Given the description of an element on the screen output the (x, y) to click on. 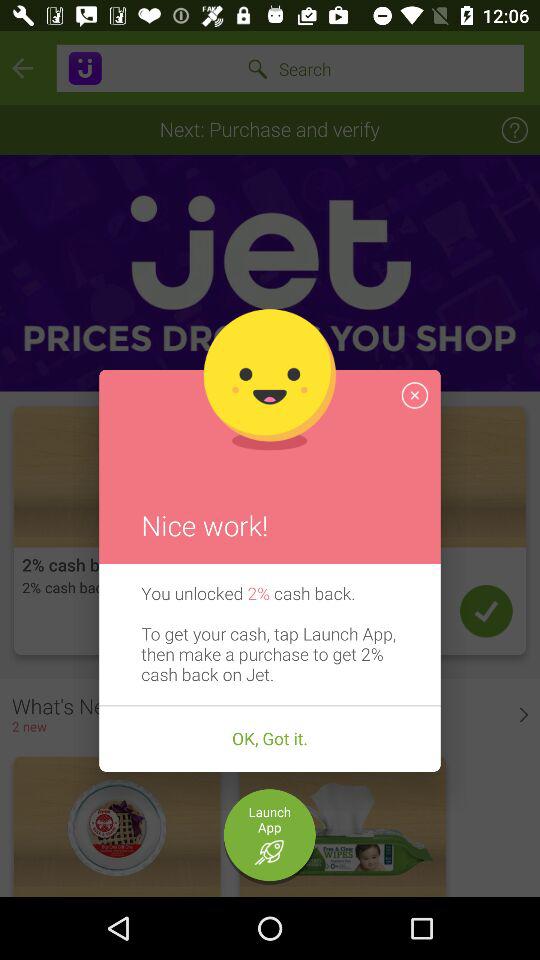
launch the ok, got it. item (269, 739)
